Given the description of an element on the screen output the (x, y) to click on. 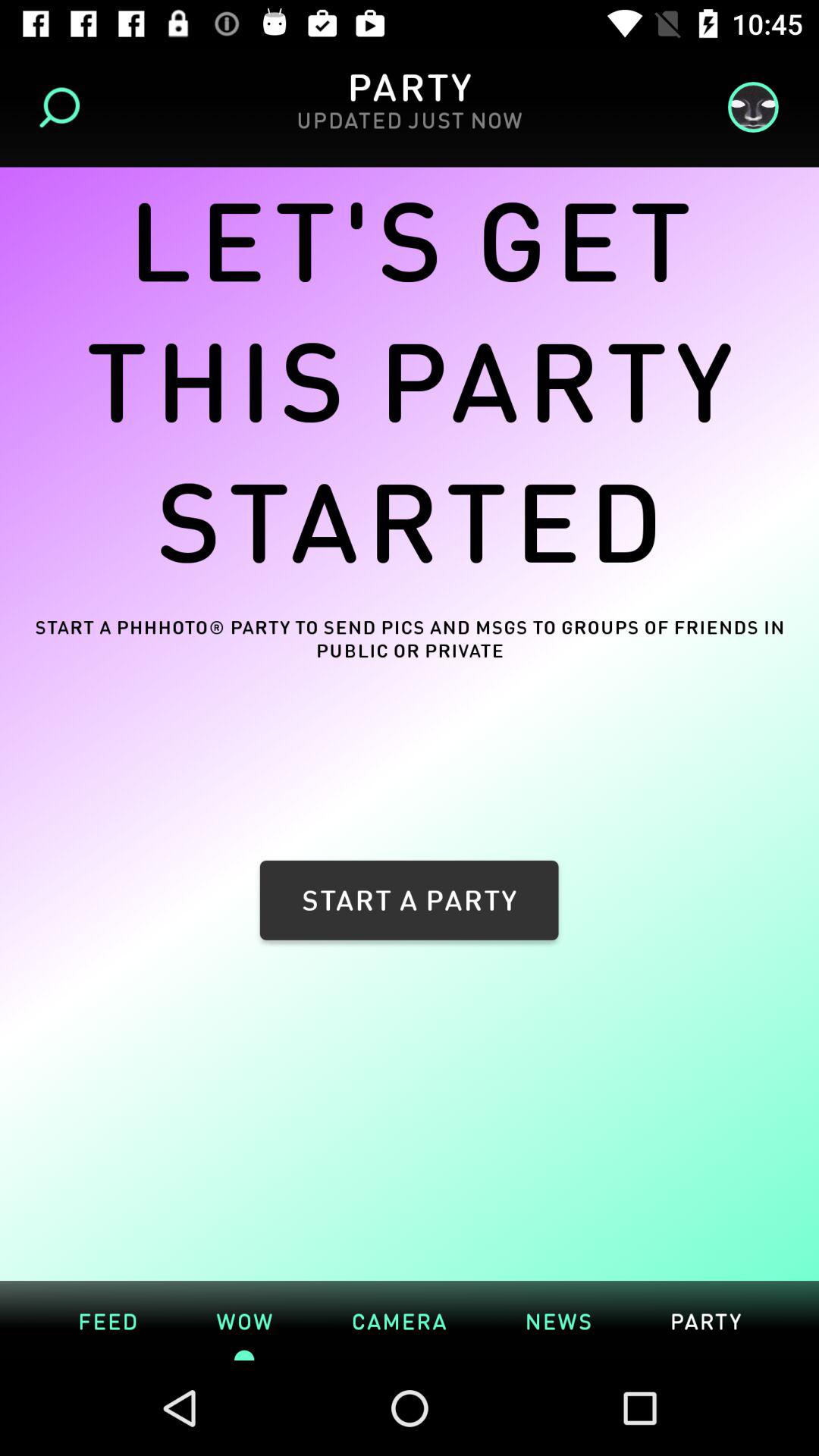
turn on item above let s get item (64, 107)
